Given the description of an element on the screen output the (x, y) to click on. 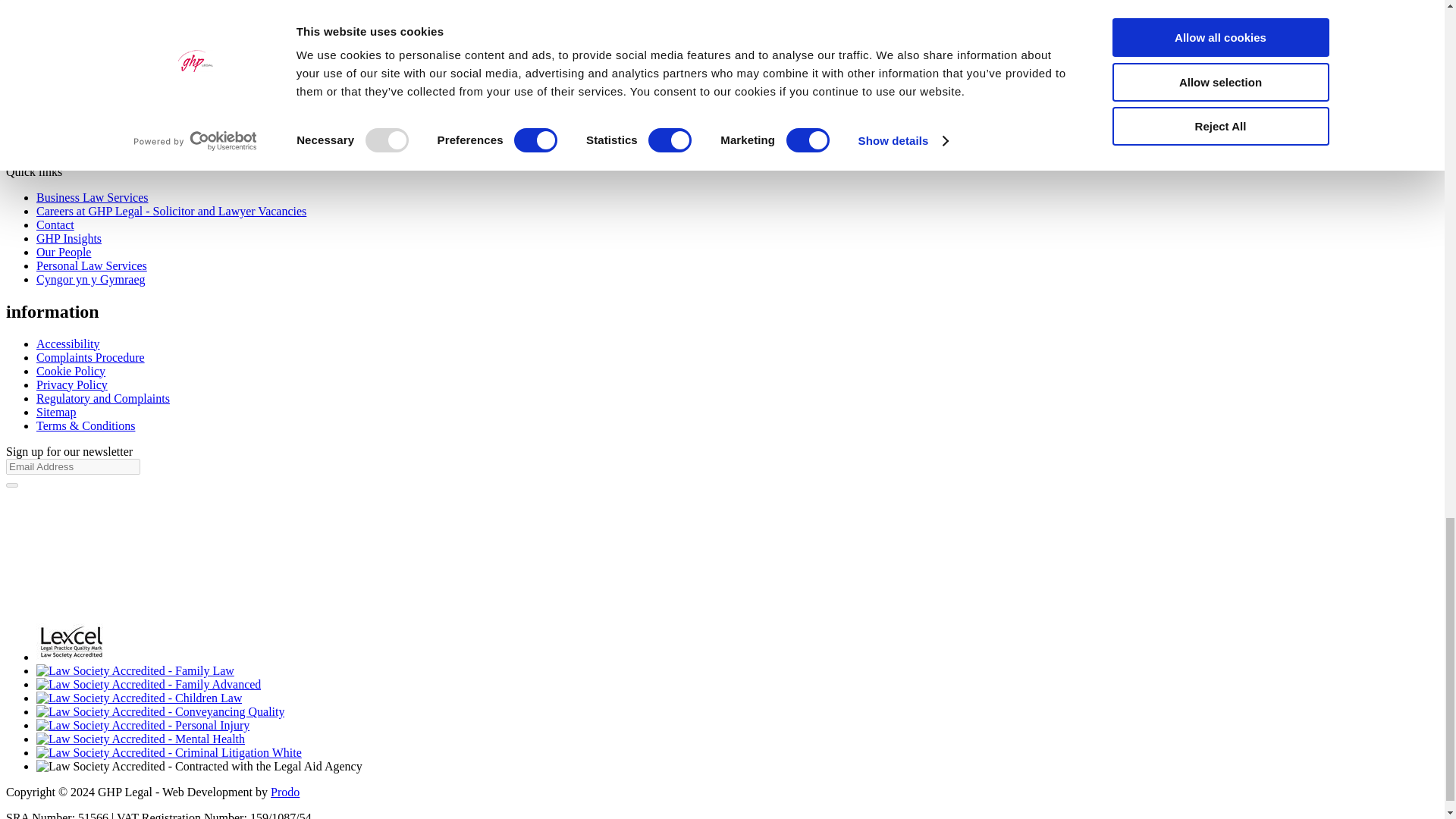
Law Society Accredited - Lexcel (71, 641)
Law Society Accredited - Personal Injury (142, 725)
Law Society Accredited - Children Law (138, 698)
Law Society Accredited - Family Advanced (148, 684)
Law Society Accredited - Mental Health (140, 739)
Law Society Accredited - Family Law (135, 671)
Law Society Accredited - Conveyancing Quality (159, 712)
Law Society Accredited - Criminal Litigation White (168, 753)
